Given the description of an element on the screen output the (x, y) to click on. 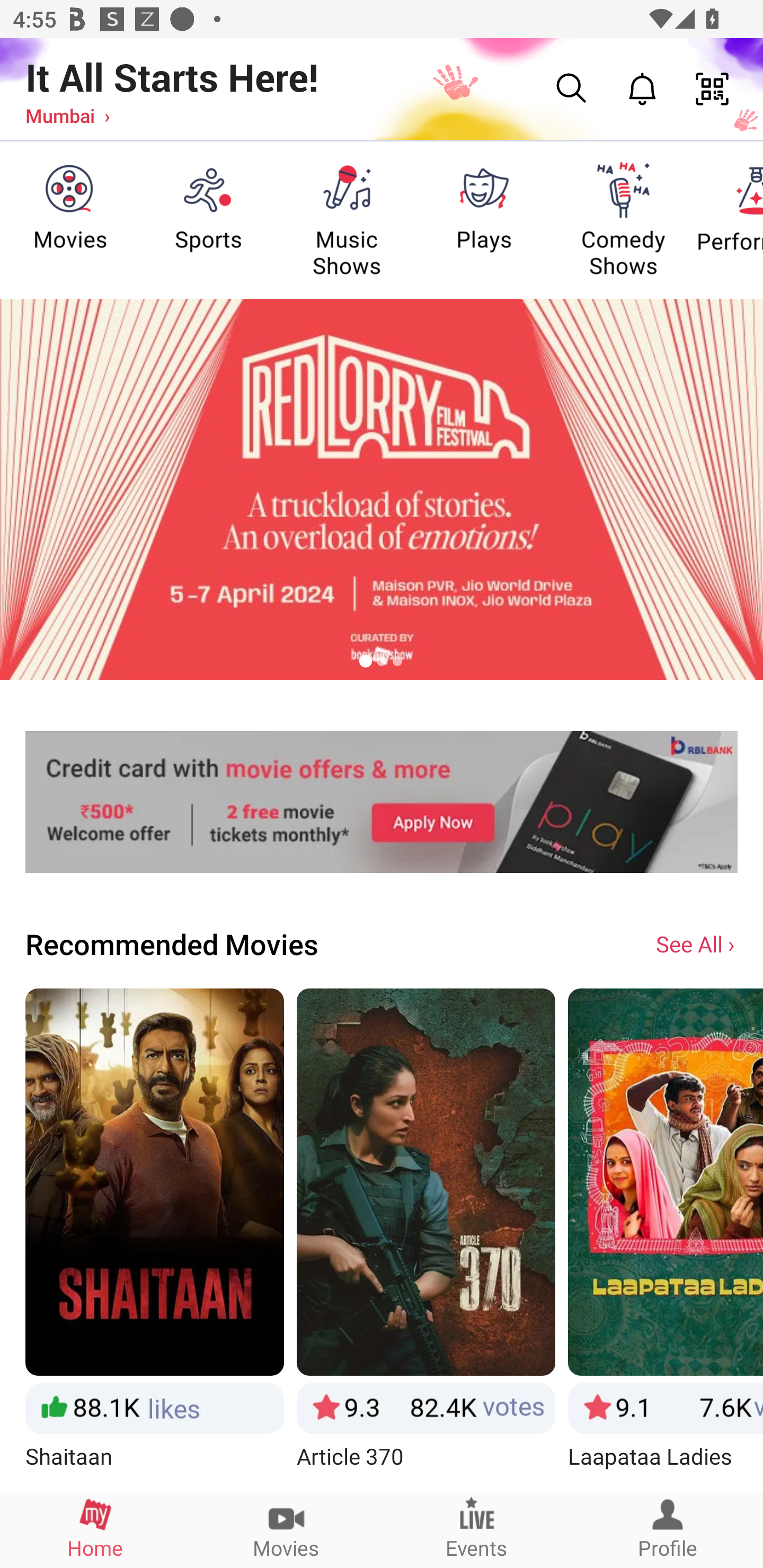
Mumbai  › (67, 114)
See All › (696, 943)
Shaitaan (154, 1239)
Article 370 (425, 1239)
Laapataa Ladies (665, 1239)
Home (95, 1529)
Movies (285, 1529)
Events (476, 1529)
Profile (667, 1529)
